Given the description of an element on the screen output the (x, y) to click on. 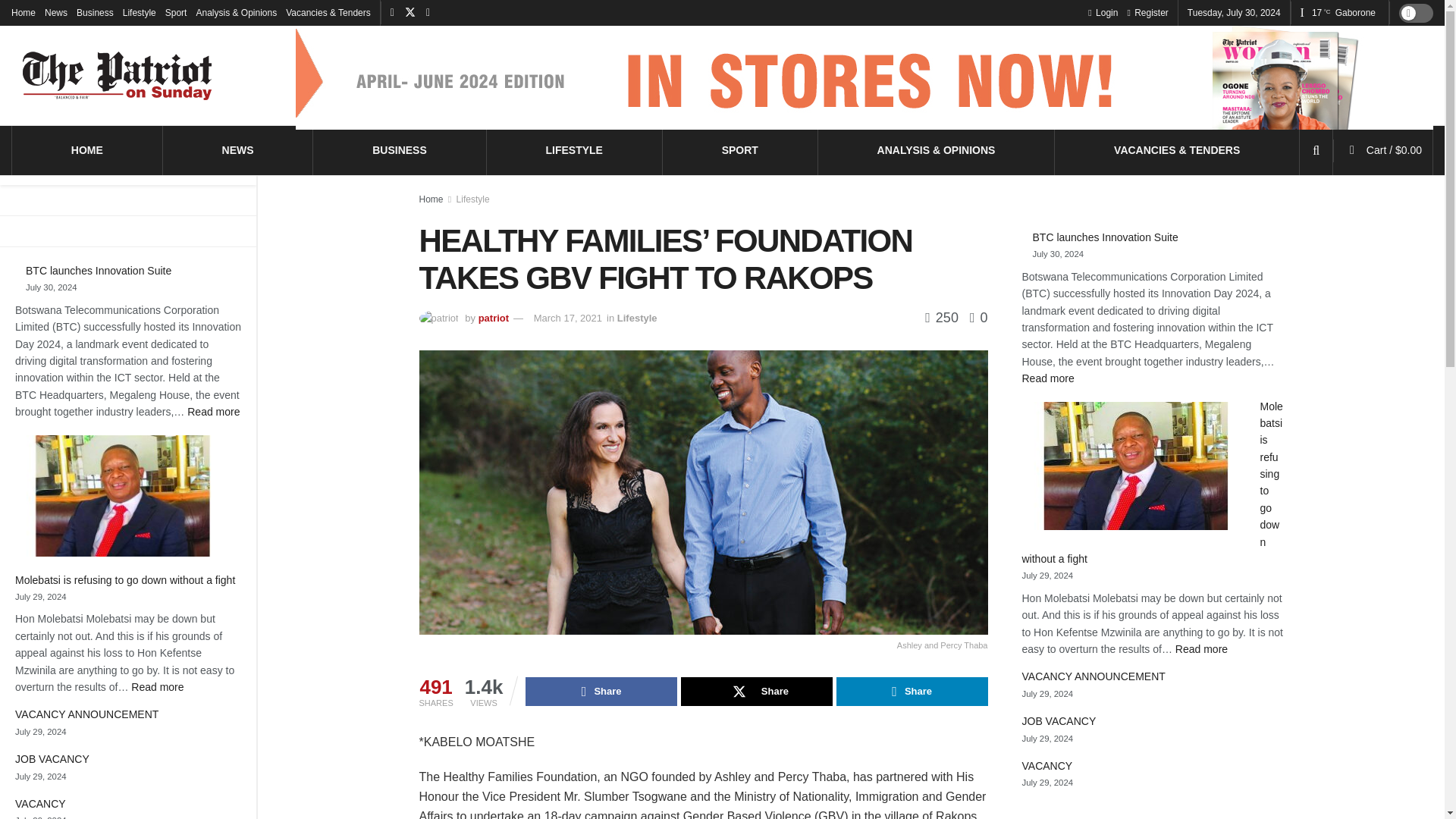
NEWS (237, 149)
LIFESTYLE (157, 686)
JOB VACANCY (573, 149)
BUSINESS (51, 758)
Register (399, 149)
HOME (1146, 12)
BTC launches Innovation Suite  (87, 149)
Login (100, 270)
Business (1102, 12)
Molebatsi is refusing to go down without a fight (95, 12)
VACANCY (124, 580)
Home (39, 803)
Lifestyle (22, 12)
View your shopping cart (138, 12)
